Given the description of an element on the screen output the (x, y) to click on. 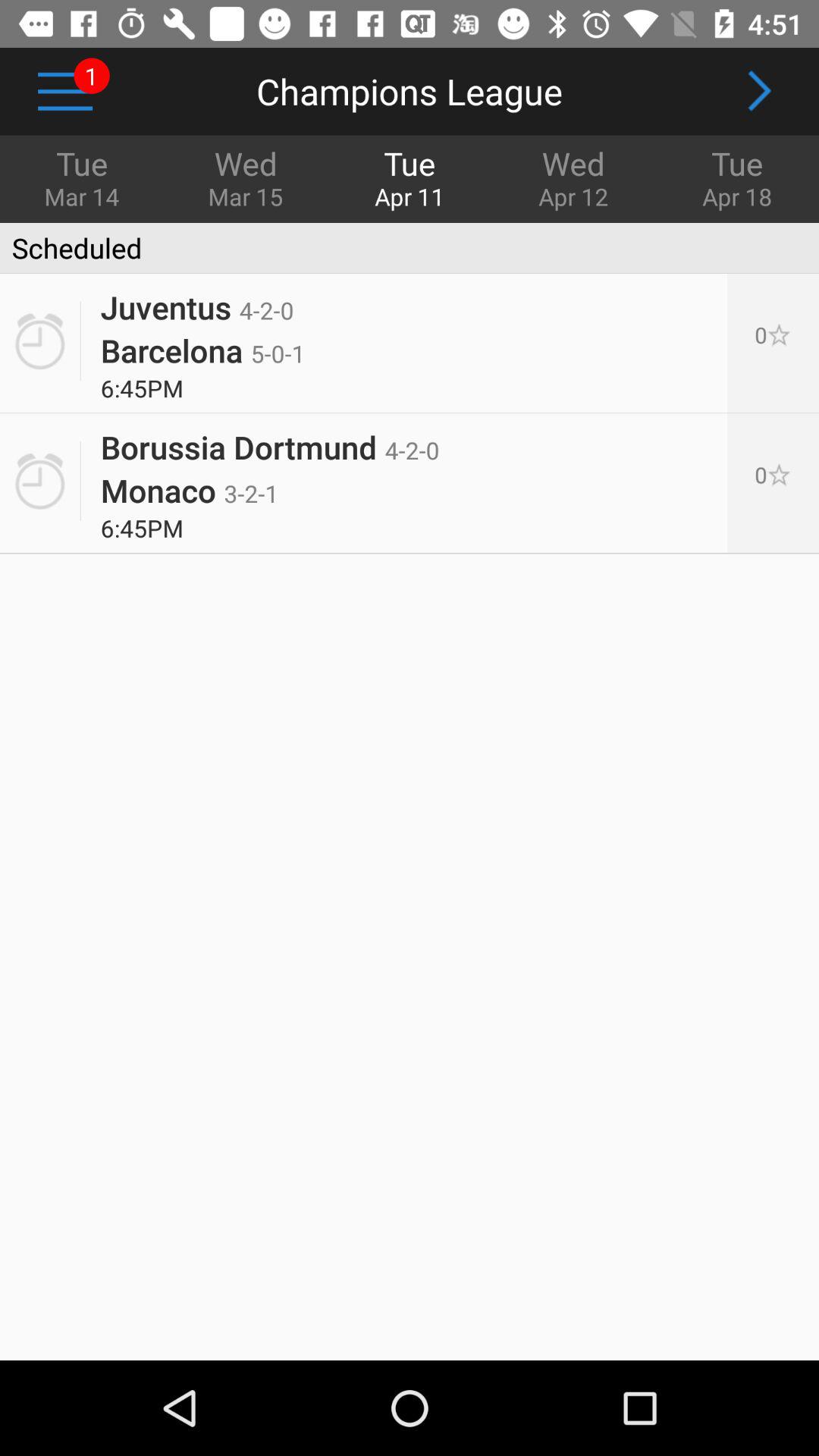
jump until the barcelona 5 0 (202, 349)
